Given the description of an element on the screen output the (x, y) to click on. 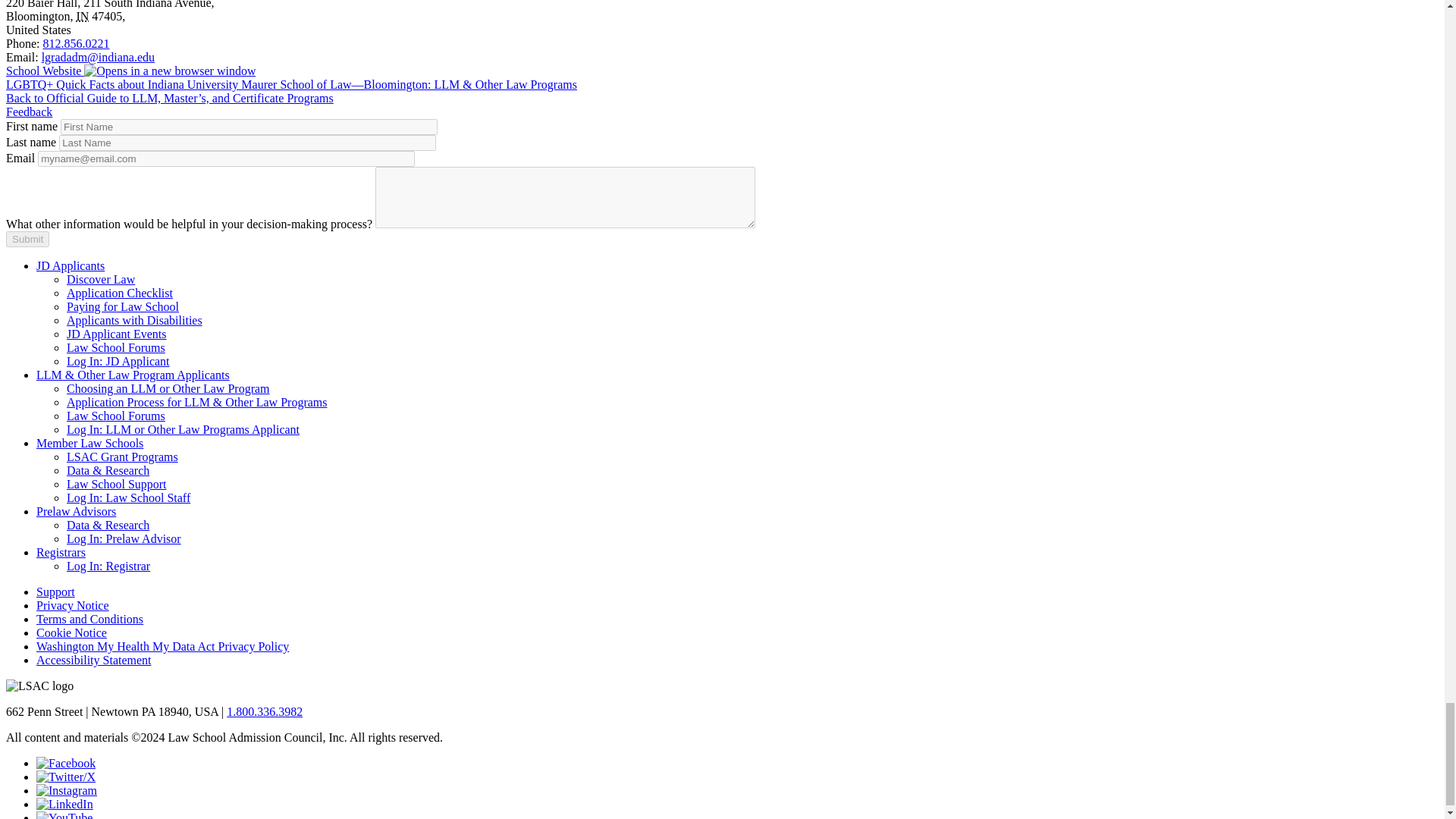
Submit (27, 238)
